Given the description of an element on the screen output the (x, y) to click on. 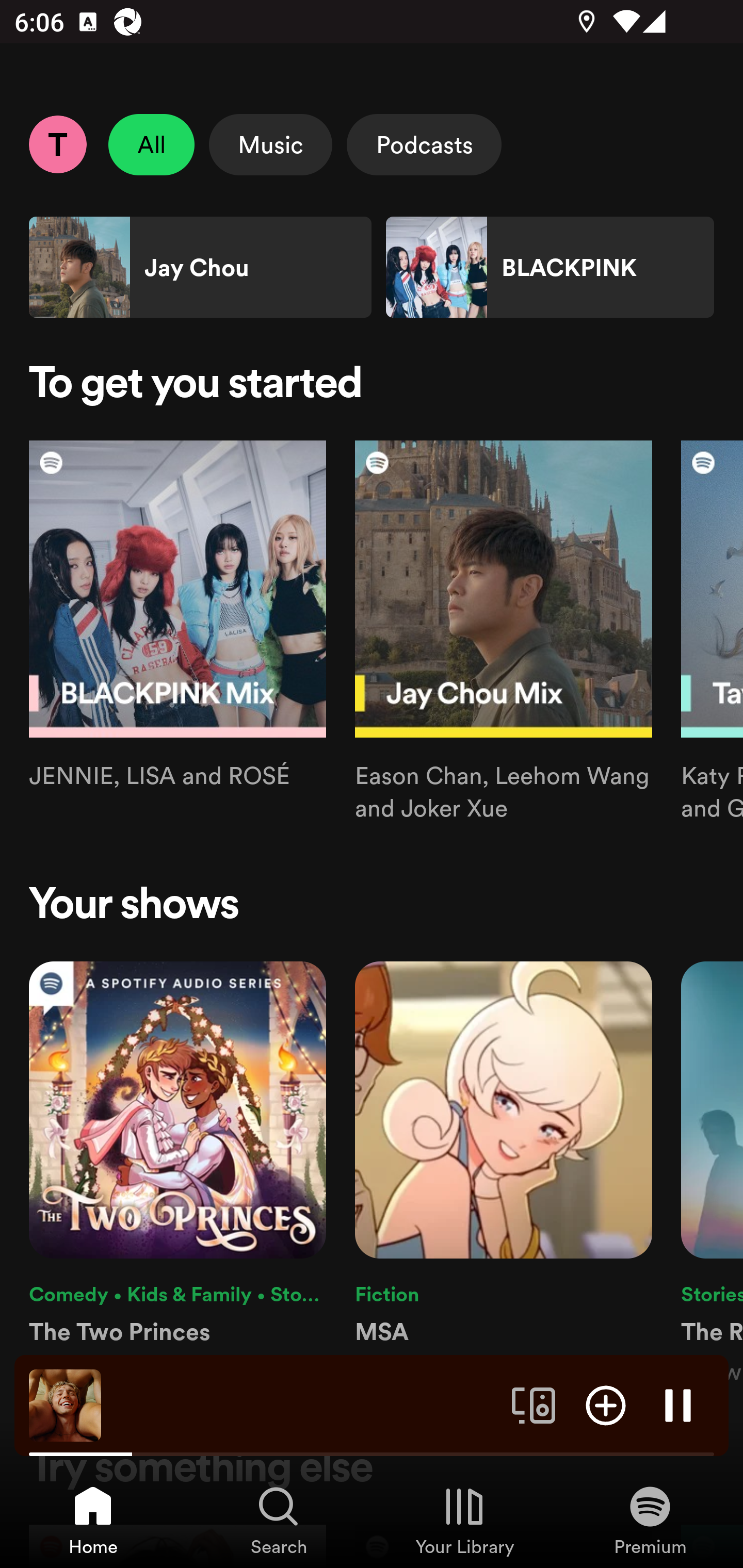
Profile (57, 144)
All Unselect All (151, 144)
Music Select Music (270, 144)
Podcasts Select Podcasts (423, 144)
Jay Chou Shortcut Jay Chou (199, 267)
BLACKPINK Shortcut BLACKPINK (549, 267)
Fiction MSA  Show • My Story Animated (503, 1174)
The cover art of the currently playing track (64, 1404)
Connect to a device. Opens the devices menu (533, 1404)
Add item (605, 1404)
Pause (677, 1404)
Home, Tab 1 of 4 Home Home (92, 1519)
Search, Tab 2 of 4 Search Search (278, 1519)
Your Library, Tab 3 of 4 Your Library Your Library (464, 1519)
Premium, Tab 4 of 4 Premium Premium (650, 1519)
